Given the description of an element on the screen output the (x, y) to click on. 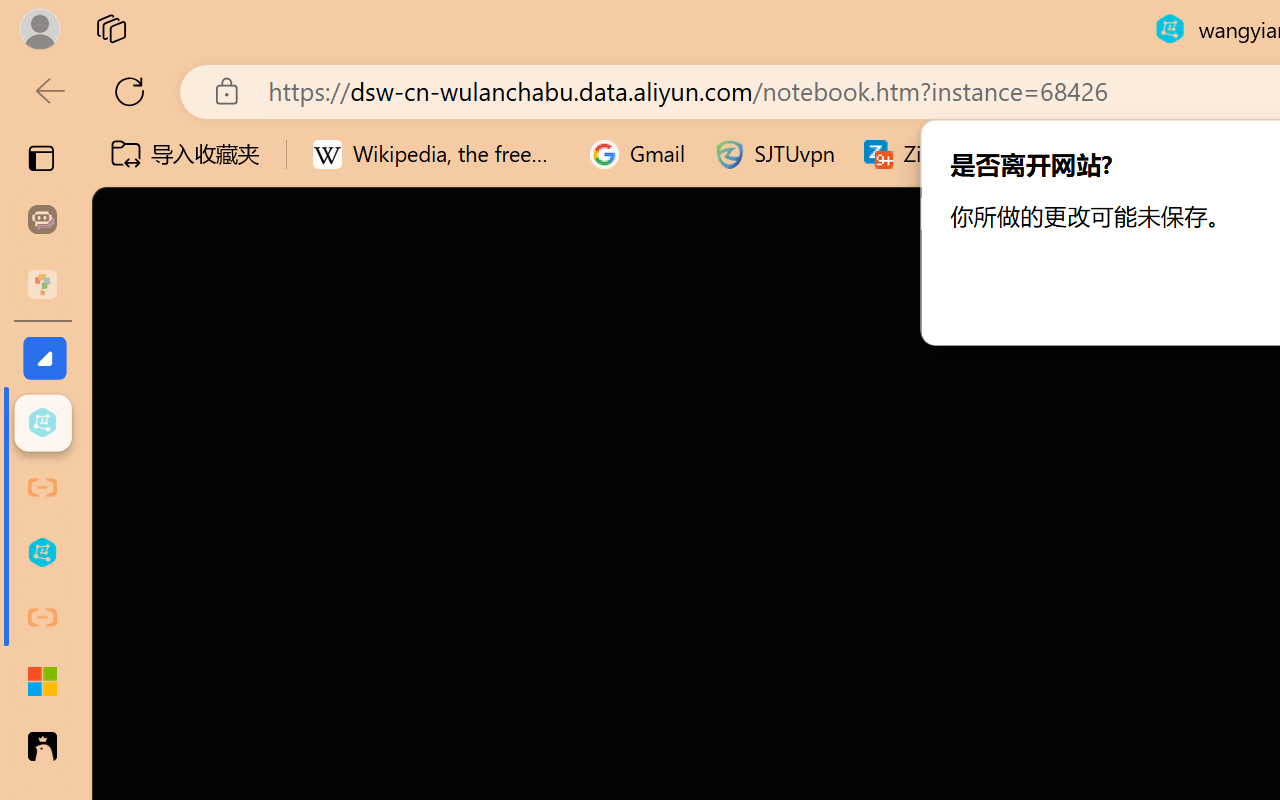
Wikipedia, the free encyclopedia (437, 154)
